Given the description of an element on the screen output the (x, y) to click on. 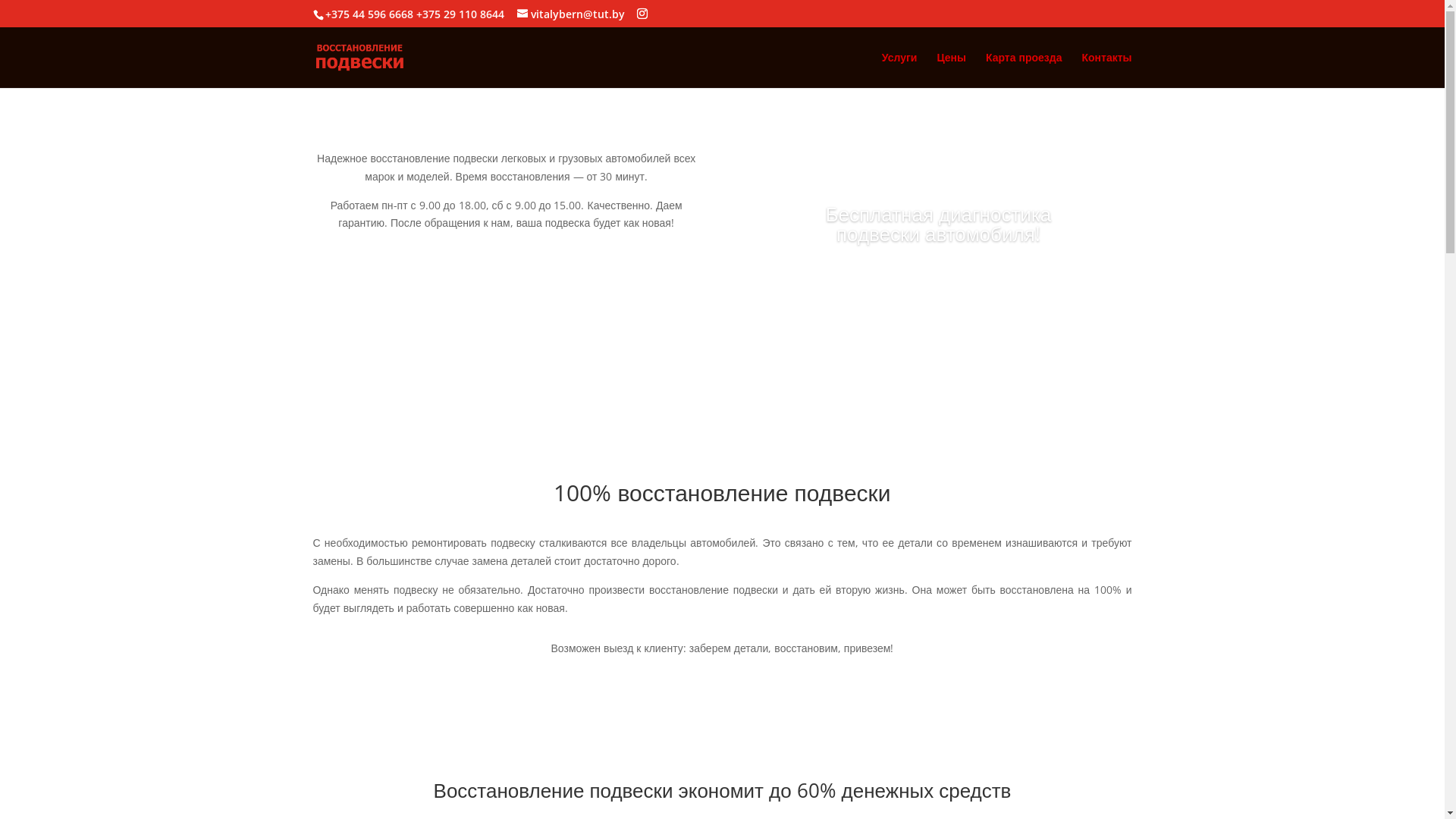
+375 29 110 8644 Element type: text (459, 13)
+375 44 596 6668 Element type: text (368, 13)
vitalybern@tut.by Element type: text (570, 13)
